Given the description of an element on the screen output the (x, y) to click on. 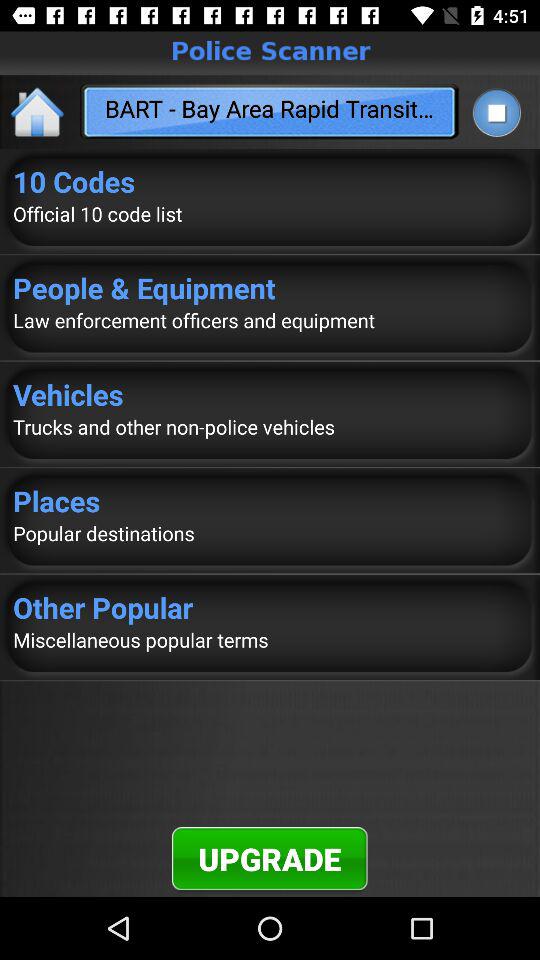
turn off item above other popular icon (269, 533)
